Given the description of an element on the screen output the (x, y) to click on. 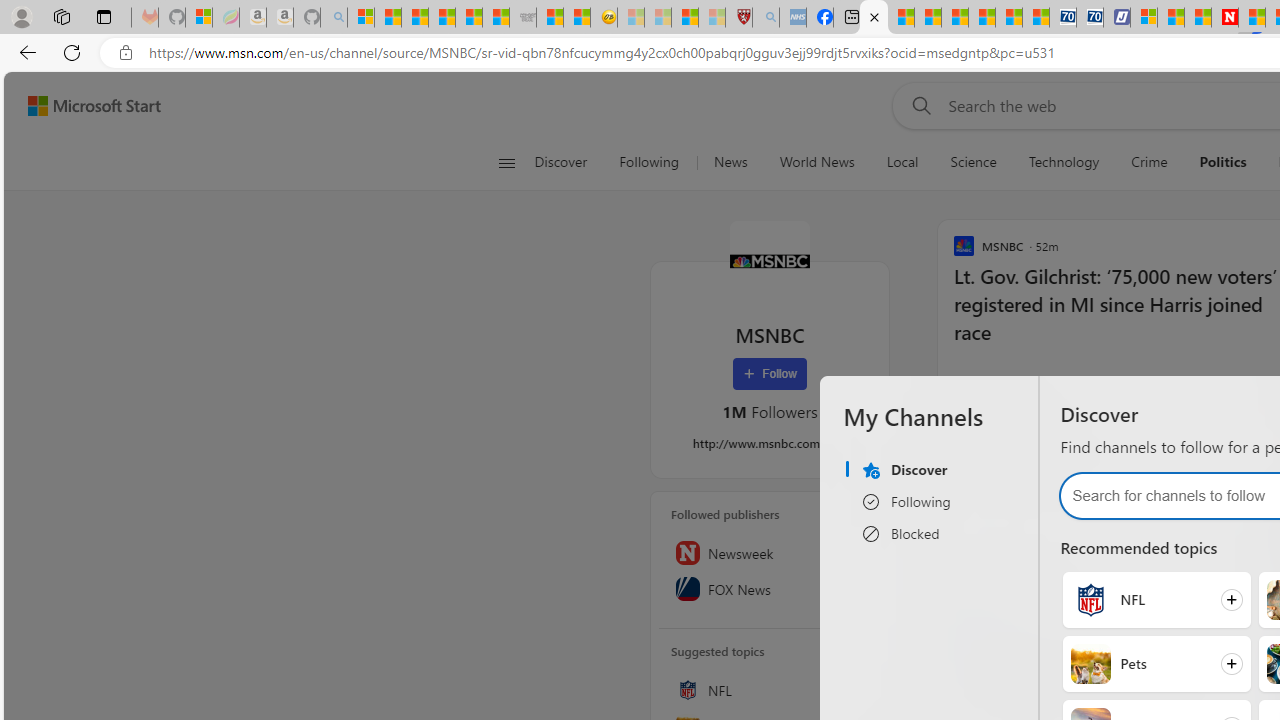
Microsoft-Report a Concern to Bing (198, 17)
Local (902, 162)
Skip to content (86, 105)
Follow this topic (860, 690)
Follow Pets (1156, 663)
Dislike (1008, 384)
Trusted Community Engagement and Contributions | Guidelines (1251, 17)
http://www.msnbc.com/ (769, 443)
Skip to footer (82, 105)
Newsweek - News, Analysis, Politics, Business, Technology (1224, 17)
FOX News (770, 588)
